Given the description of an element on the screen output the (x, y) to click on. 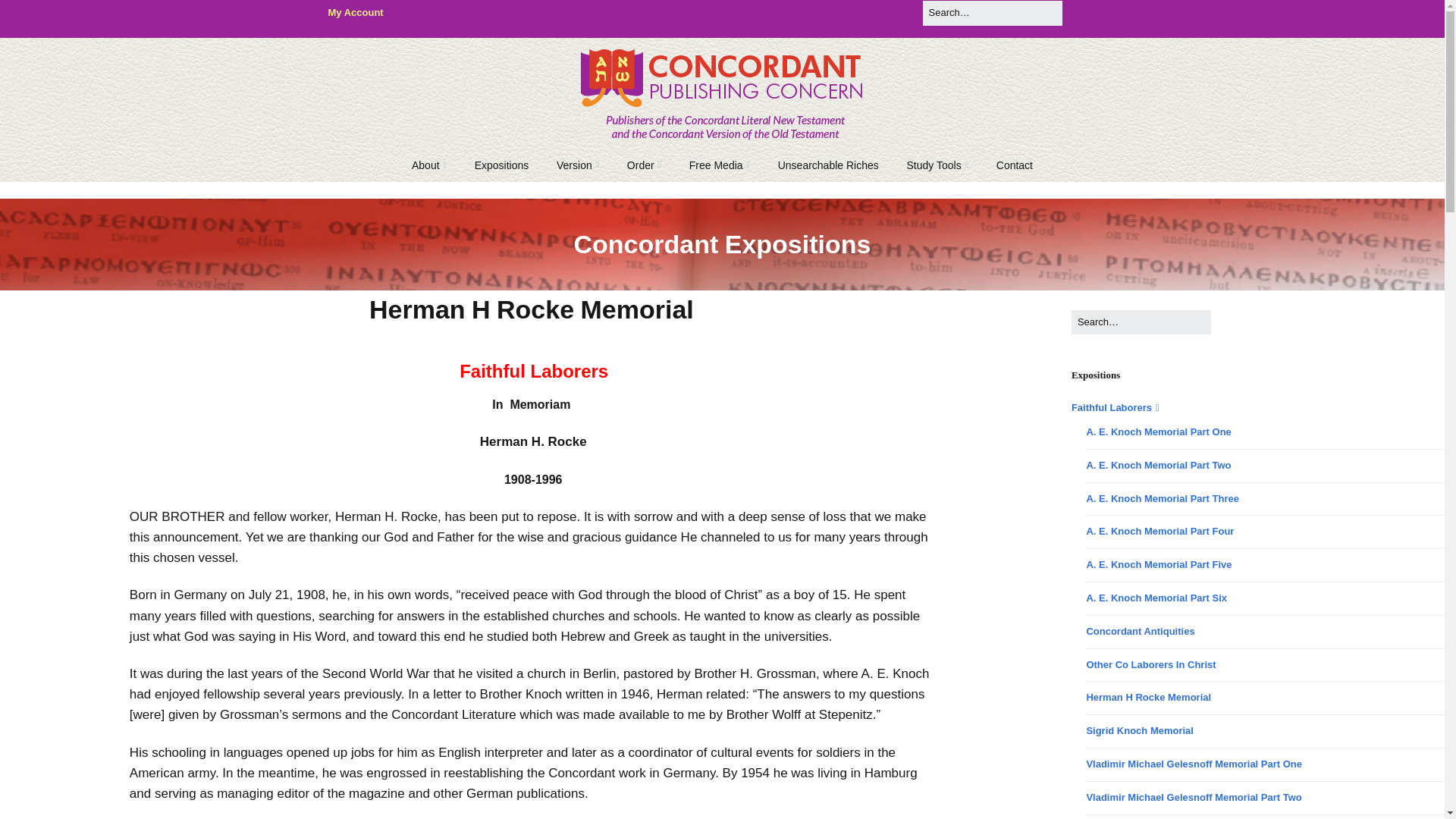
Version (577, 165)
My Account (355, 12)
Study Tools (938, 165)
Press Enter to submit your search (1141, 322)
Free Media (719, 165)
